Given the description of an element on the screen output the (x, y) to click on. 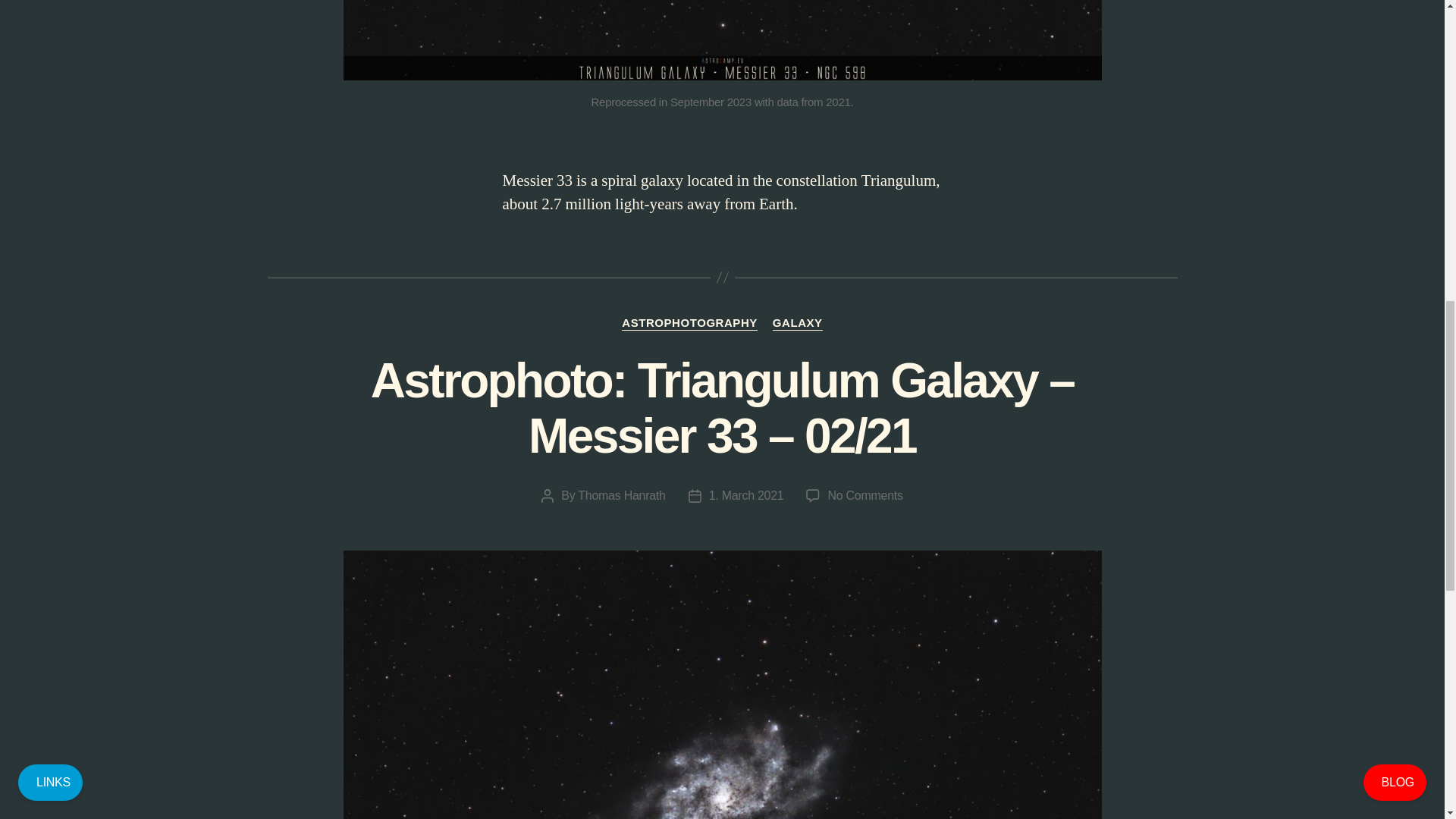
GALAXY (797, 323)
Thomas Hanrath (621, 495)
1. March 2021 (746, 495)
ASTROPHOTOGRAPHY (689, 323)
